Given the description of an element on the screen output the (x, y) to click on. 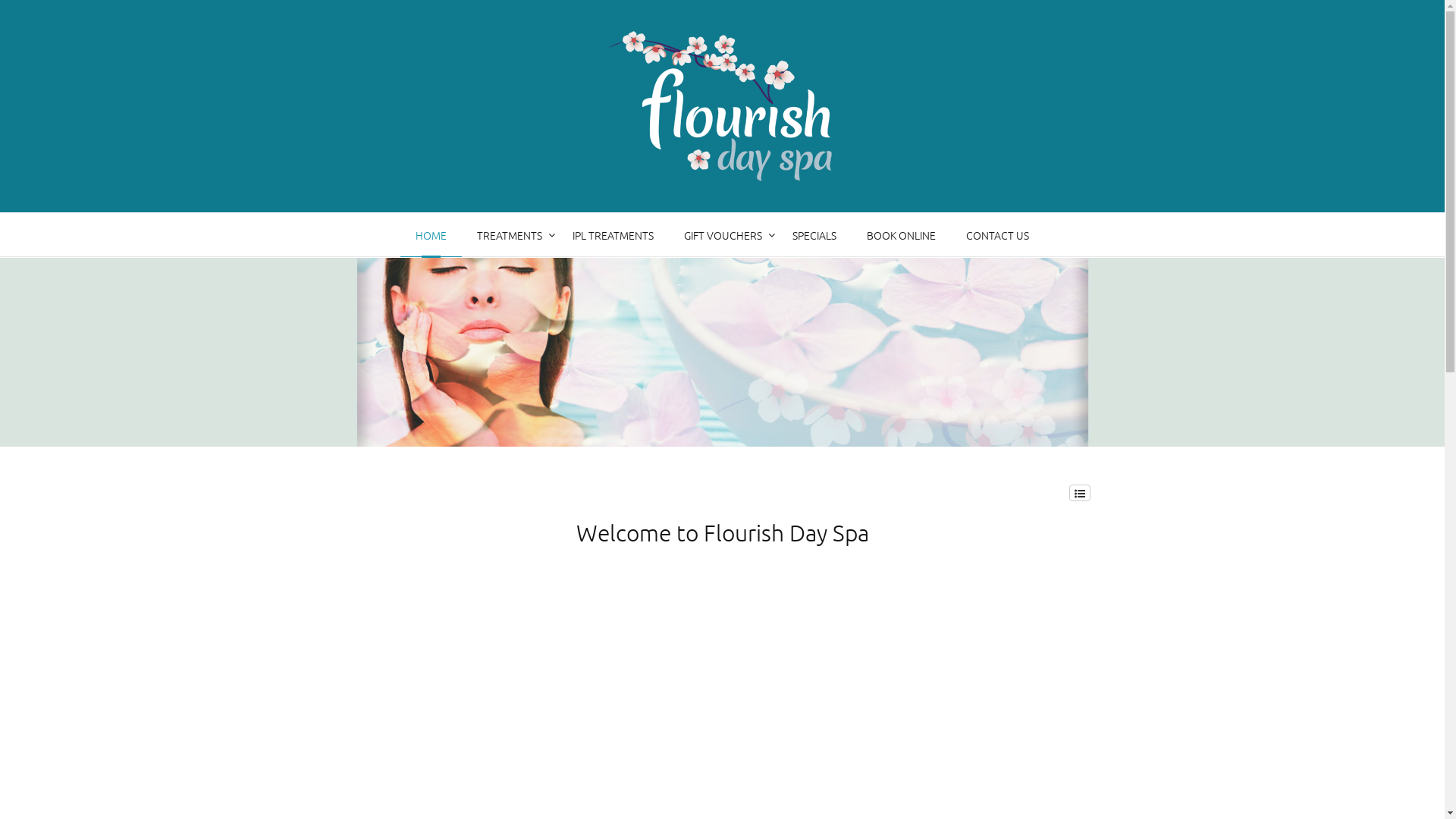
GIFT VOUCHERS Element type: text (722, 234)
IPL TREATMENTS Element type: text (612, 234)
BOOK ONLINE Element type: text (900, 234)
TREATMENTS Element type: text (509, 234)
CONTACT US Element type: text (997, 234)
HOME Element type: text (430, 234)
SPECIALS Element type: text (814, 234)
